Given the description of an element on the screen output the (x, y) to click on. 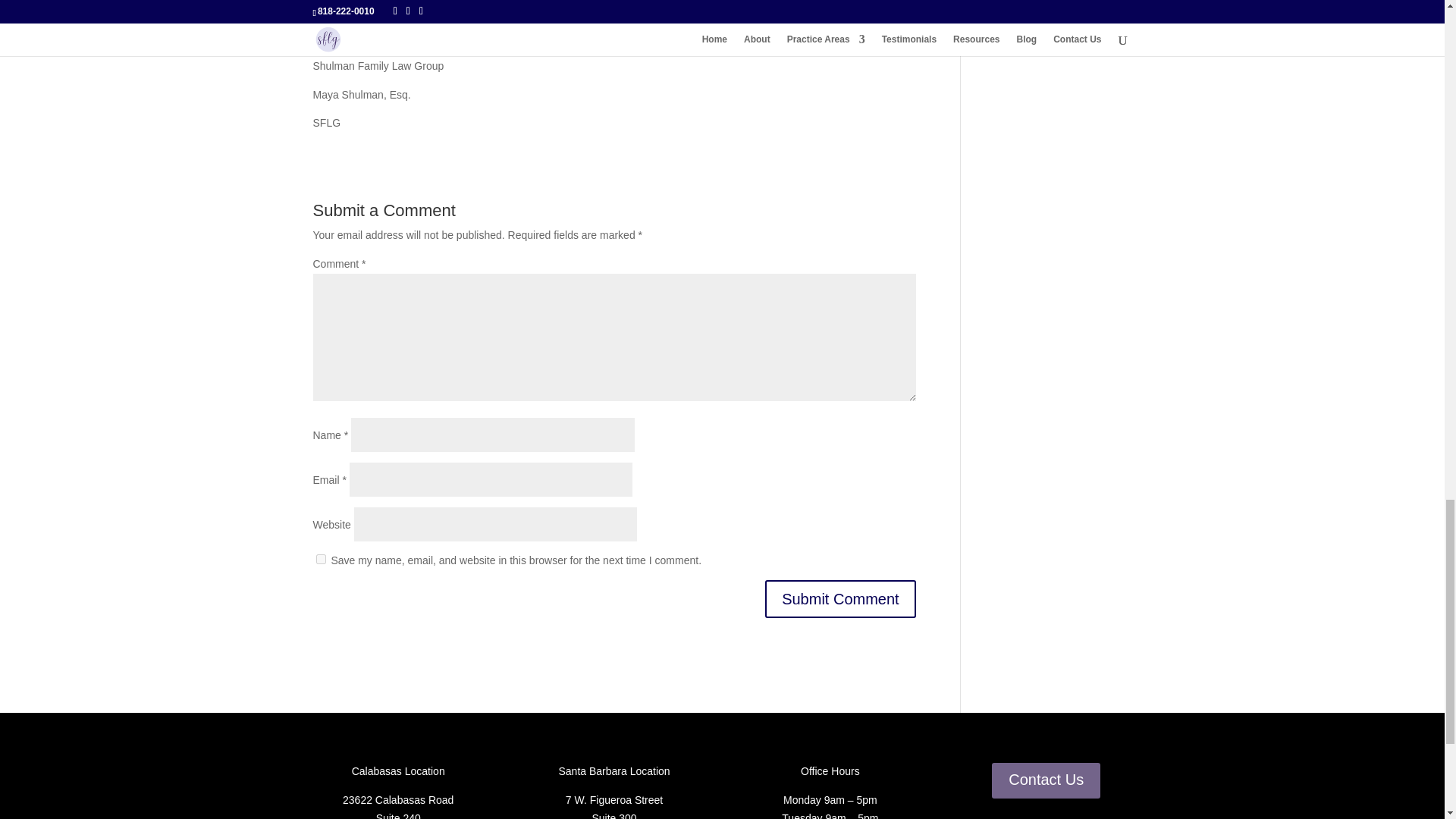
Submit Comment (840, 598)
Submit Comment (840, 598)
yes (319, 559)
Contact Us (1045, 780)
